Given the description of an element on the screen output the (x, y) to click on. 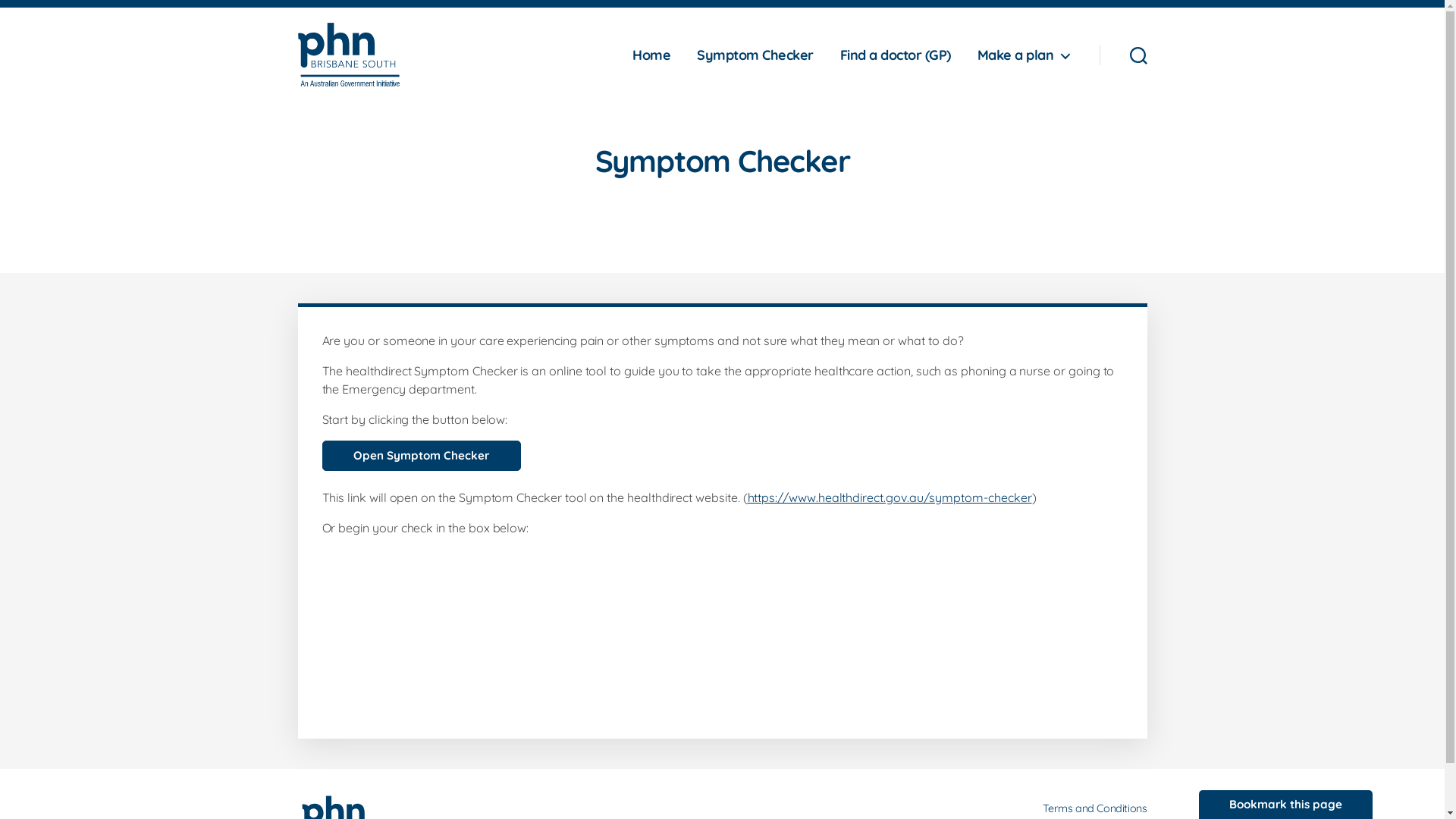
Make a plan Element type: text (1023, 55)
Open Symptom Checker Element type: text (420, 455)
Symptom Checker Widget Element type: hover (721, 625)
https://www.healthdirect.gov.au/symptom-checker Element type: text (889, 497)
Terms and Conditions Element type: text (1094, 808)
Symptom Checker Element type: text (754, 55)
Home Element type: text (651, 55)
Find a doctor (GP) Element type: text (895, 55)
